Given the description of an element on the screen output the (x, y) to click on. 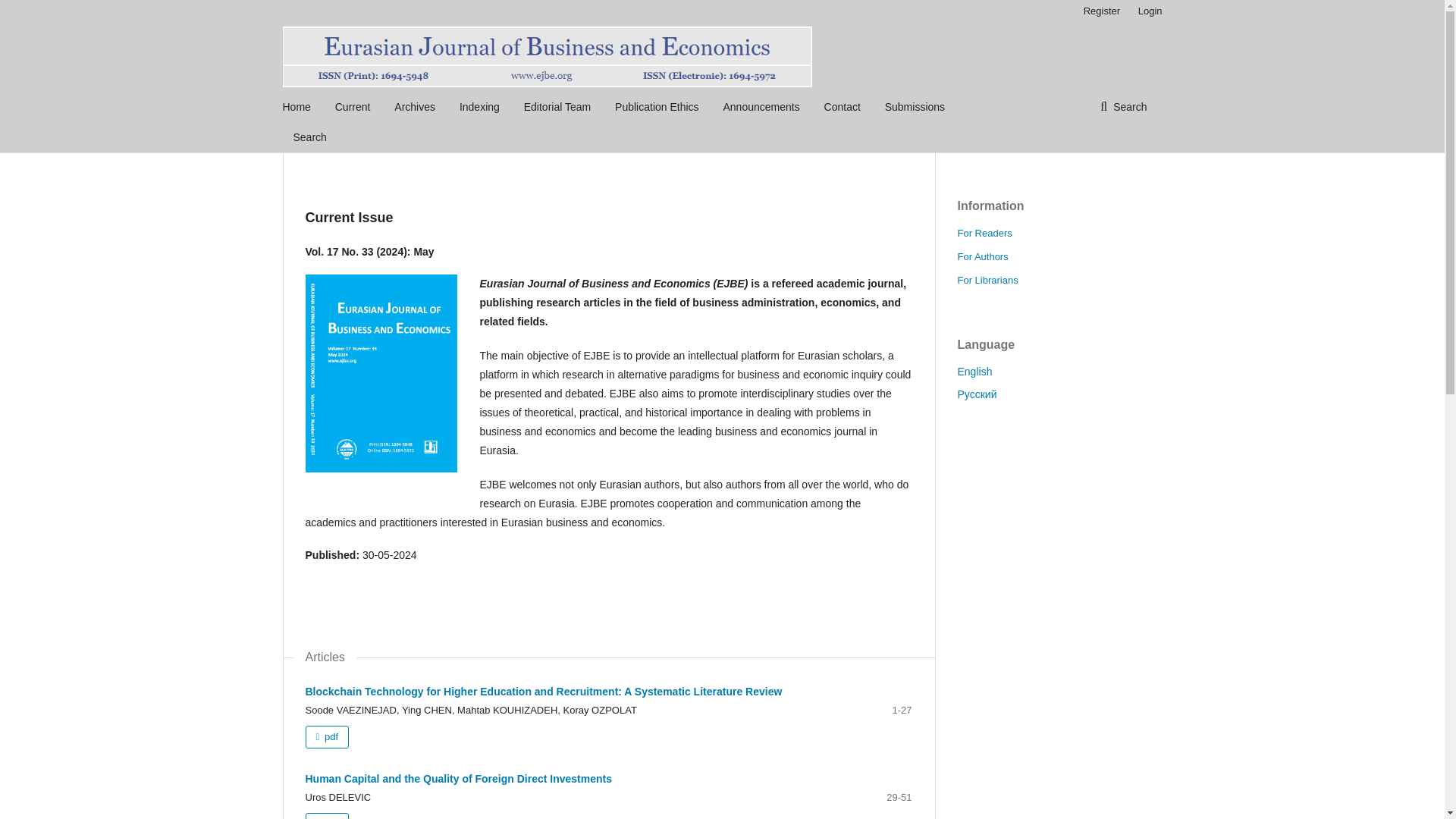
Login (1146, 11)
Search (1122, 106)
Home (296, 106)
Register (1100, 11)
Current (352, 106)
Archives (414, 106)
Publication Ethics (656, 106)
Announcements (760, 106)
Search (309, 137)
